Given the description of an element on the screen output the (x, y) to click on. 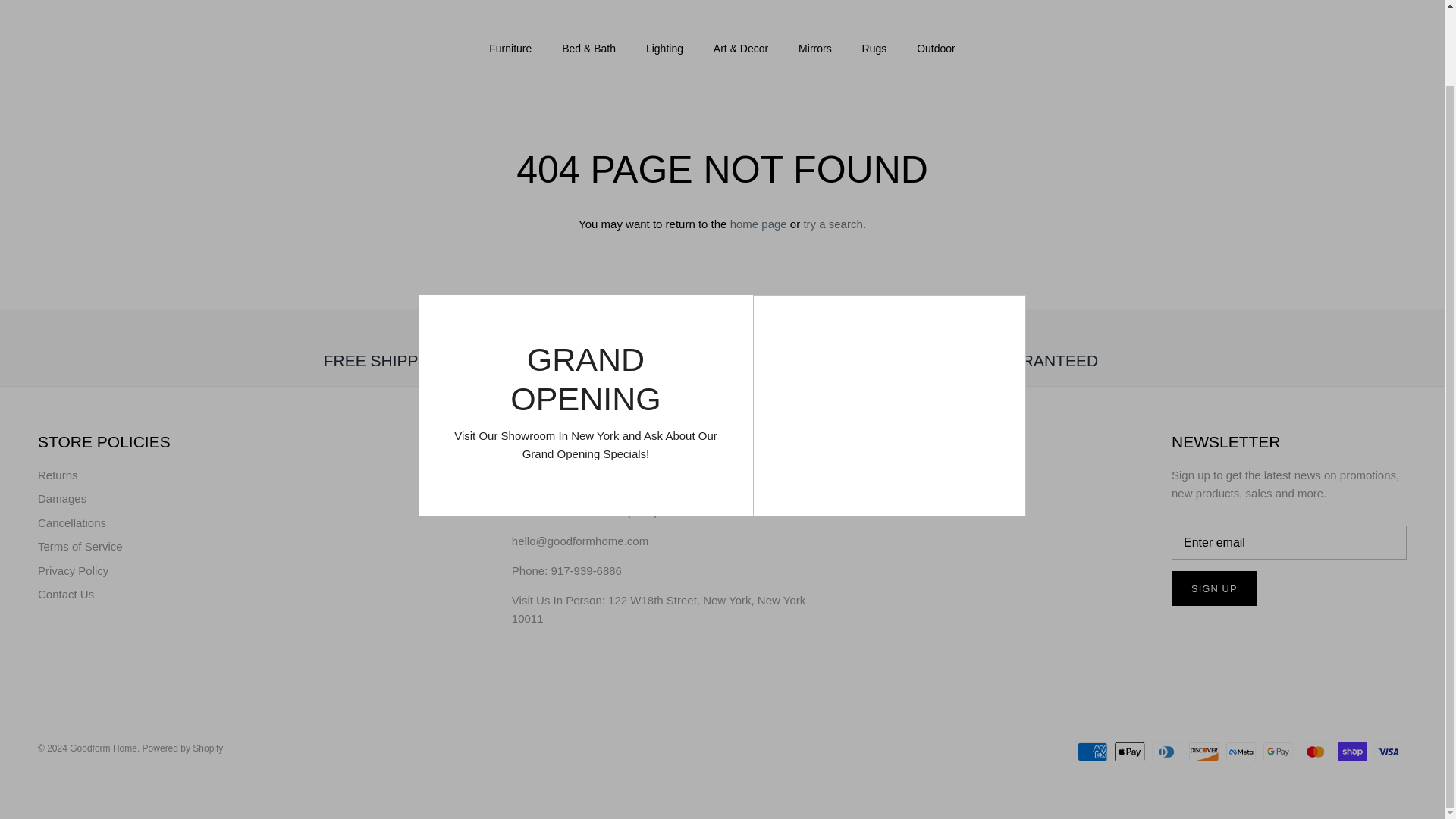
Diners Club (1166, 751)
Label (993, 334)
Goodform Home (721, 5)
Apple Pay (1129, 751)
Visa (1388, 751)
American Express (1092, 751)
tel:631-270-4560 (586, 570)
Mastercard (1315, 751)
Meta Pay (1240, 751)
Shop Pay (1352, 751)
Furniture (510, 48)
Google Pay (1277, 751)
Discover (1203, 751)
